Given the description of an element on the screen output the (x, y) to click on. 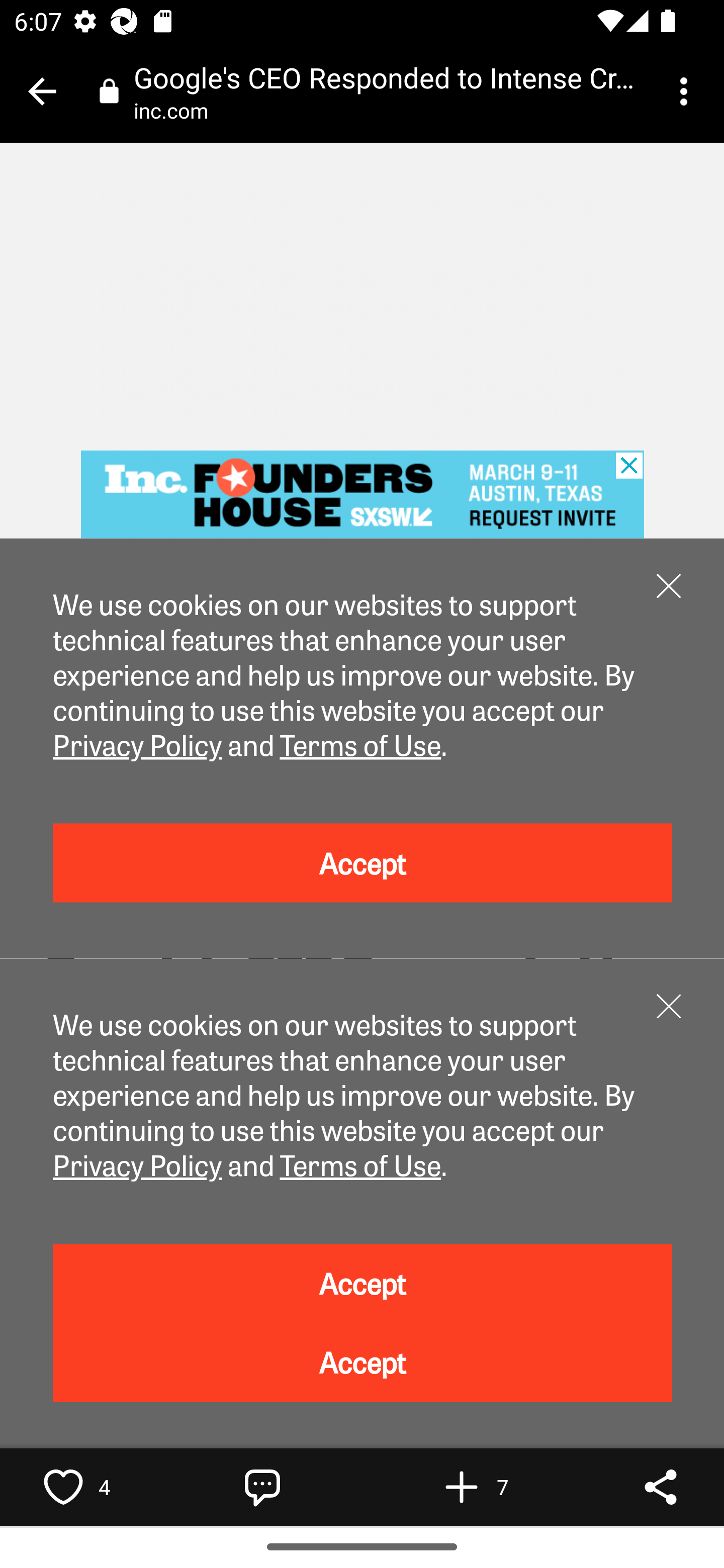
Close tab (42, 91)
More options (687, 91)
Connection is secure (108, 90)
inc.com (177, 109)
4215642%3Fref%3Dhouse%2Bdisplay%2Bad (363, 494)
Privacy Policy (137, 743)
Terms of Use (359, 743)
Accept (363, 863)
Privacy Policy (137, 1164)
Terms of Use (359, 1164)
Accept (363, 1282)
Accept (363, 1363)
Like (63, 1486)
Write a comment… (262, 1486)
Flip into Magazine (461, 1486)
Share (660, 1486)
